Given the description of an element on the screen output the (x, y) to click on. 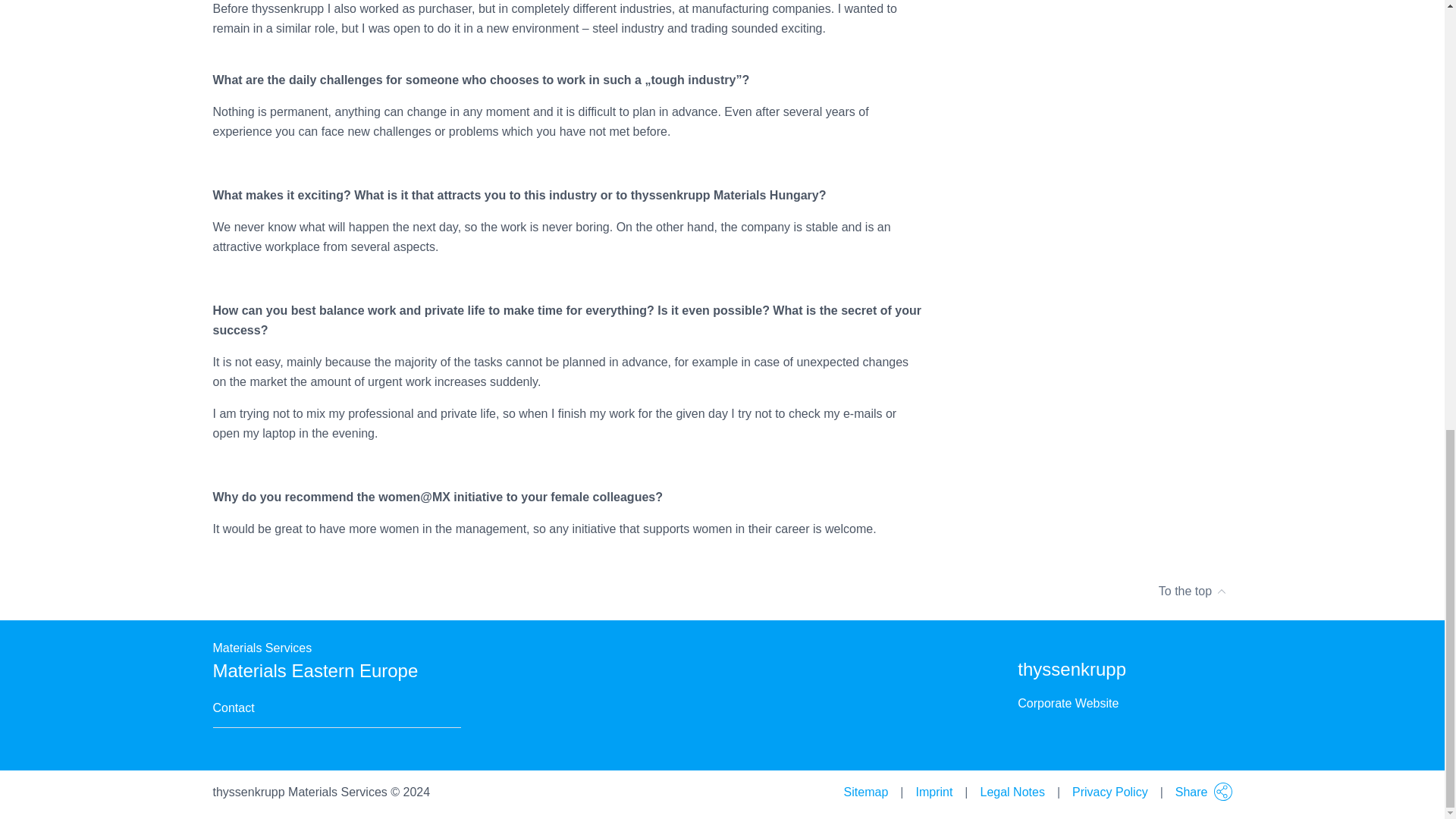
Legal Notes (1012, 792)
Contact (232, 708)
To the top arrow-up (1192, 590)
To the top arrow-up (721, 590)
arrow-up (1220, 584)
Privacy Policy (1109, 792)
Sitemap (866, 792)
tk-share (1221, 791)
Corporate Website (1067, 703)
Imprint (933, 792)
